Given the description of an element on the screen output the (x, y) to click on. 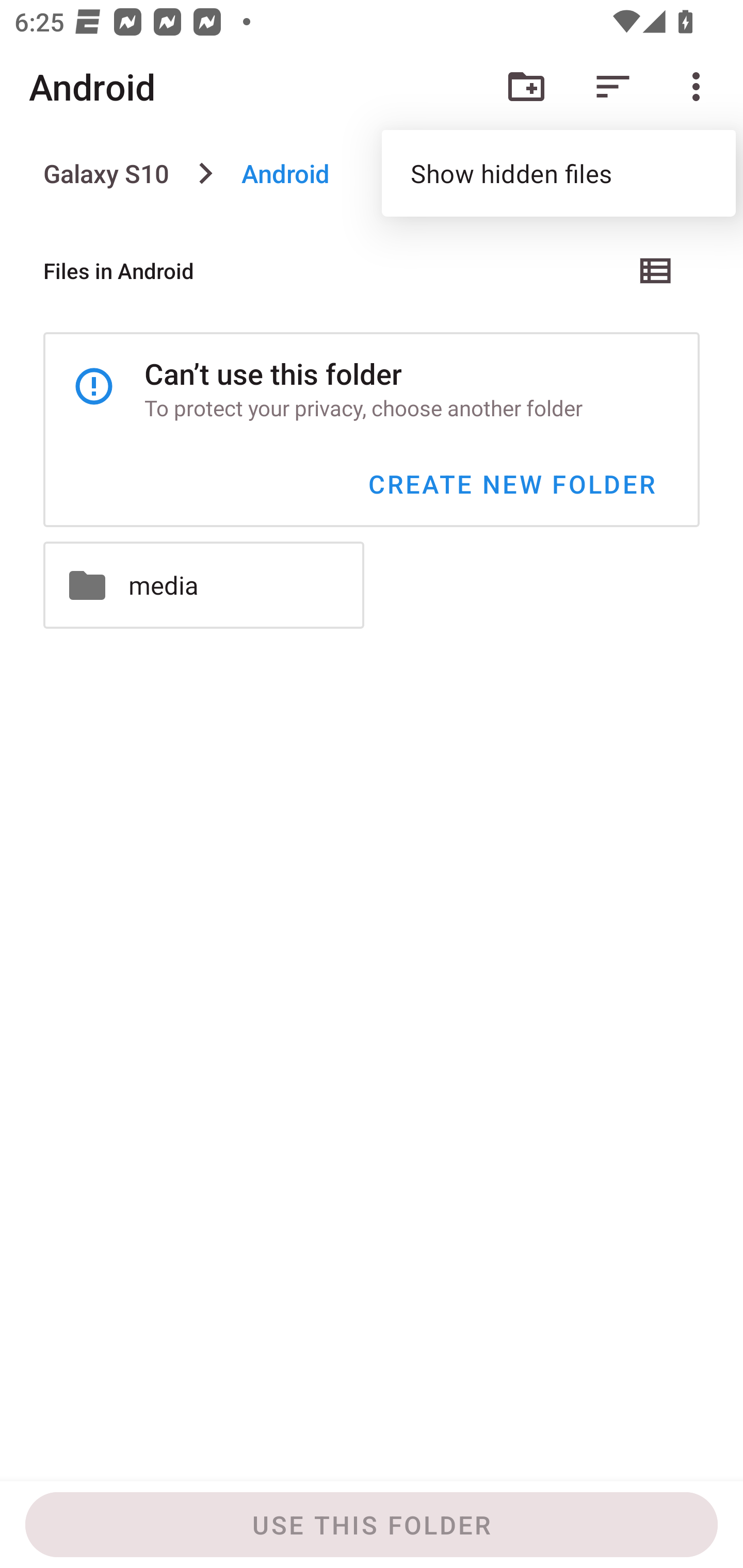
Show hidden files (558, 173)
